Given the description of an element on the screen output the (x, y) to click on. 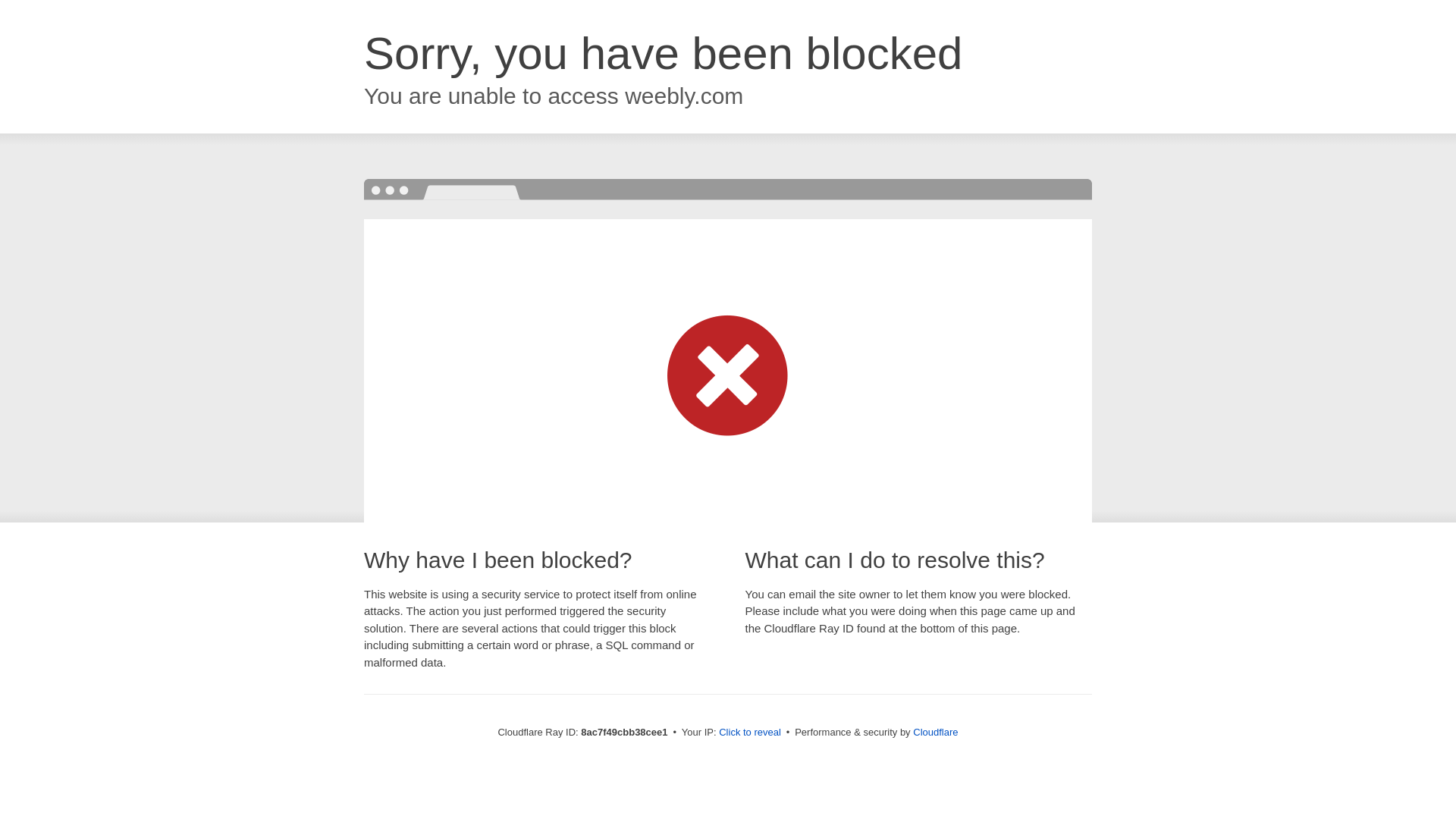
Click to reveal (749, 732)
Cloudflare (935, 731)
